Given the description of an element on the screen output the (x, y) to click on. 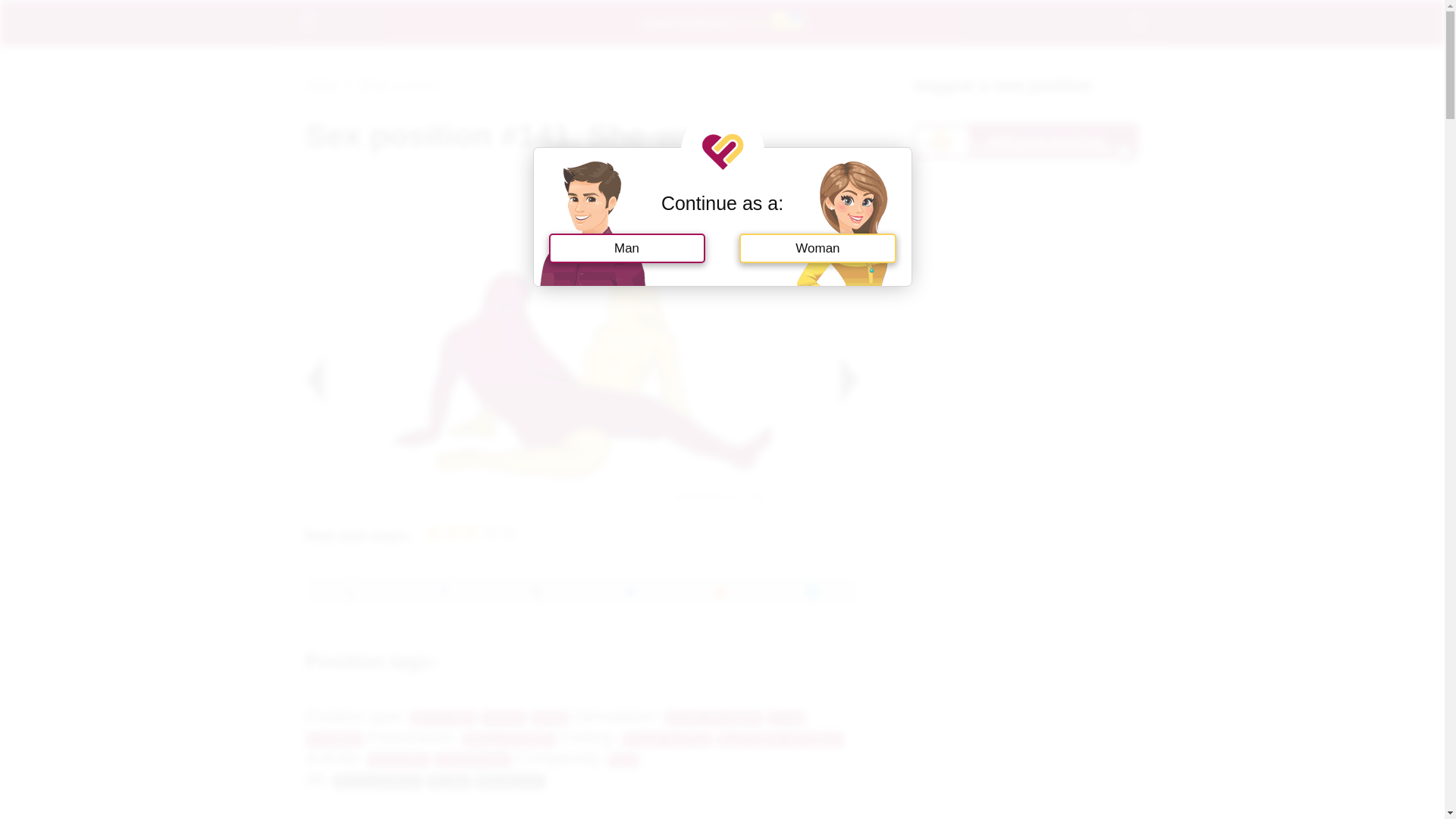
breasts touching (667, 739)
Randomizer (510, 780)
deep penetration (509, 739)
sitting (550, 718)
woman active (472, 759)
hand clitoris stimulation (780, 739)
All tags (448, 780)
reverse (502, 718)
Home (320, 83)
A-spot stimulation (713, 718)
